Given the description of an element on the screen output the (x, y) to click on. 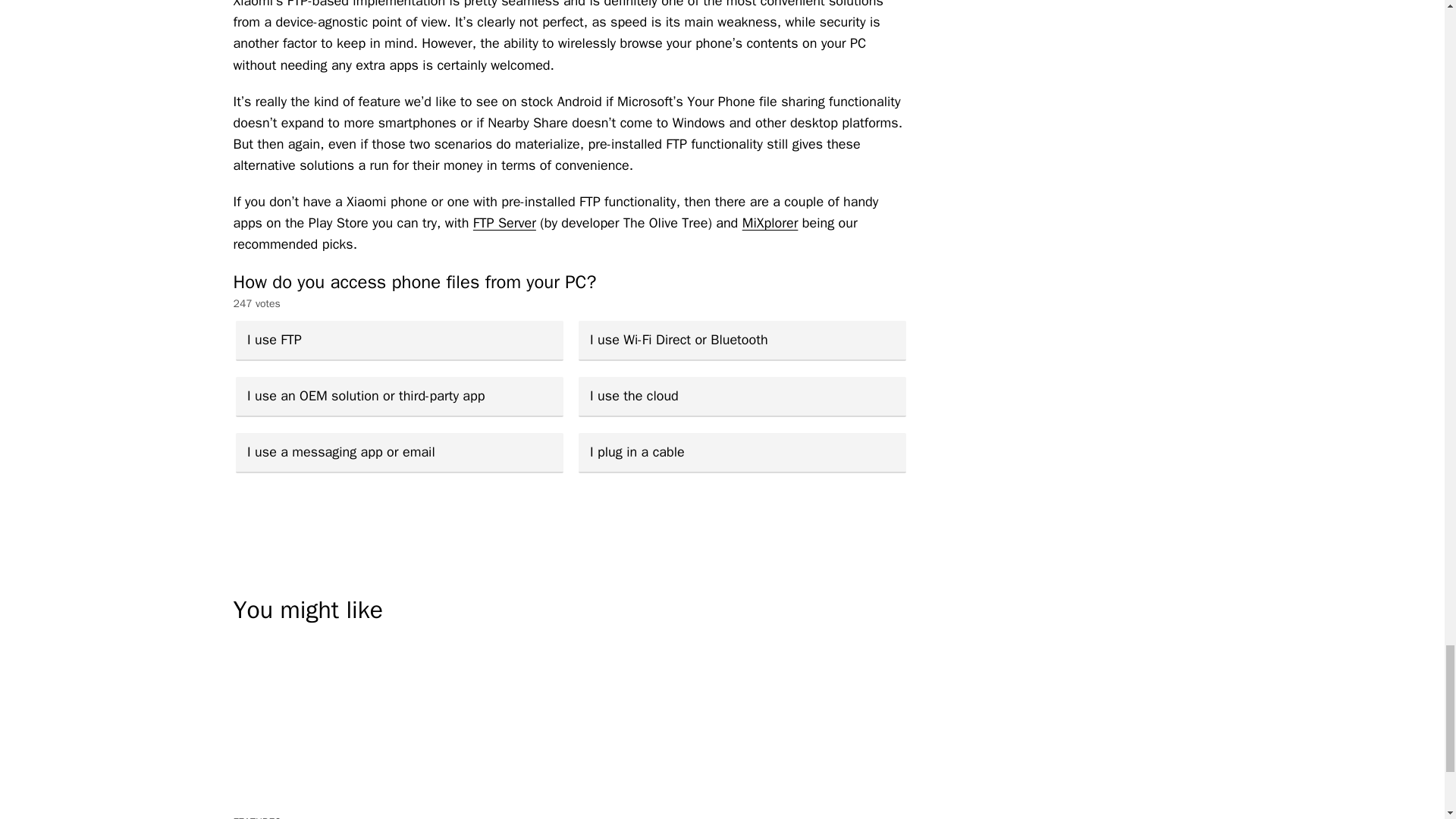
FTP Server (504, 222)
I plug in a cable (741, 453)
I use FTP (398, 341)
I use an OEM solution or third-party app (398, 396)
I use a messaging app or email (398, 453)
MiXplorer (769, 222)
I use Wi-Fi Direct or Bluetooth (741, 341)
FEATURES (257, 817)
I use the cloud (741, 396)
